Given the description of an element on the screen output the (x, y) to click on. 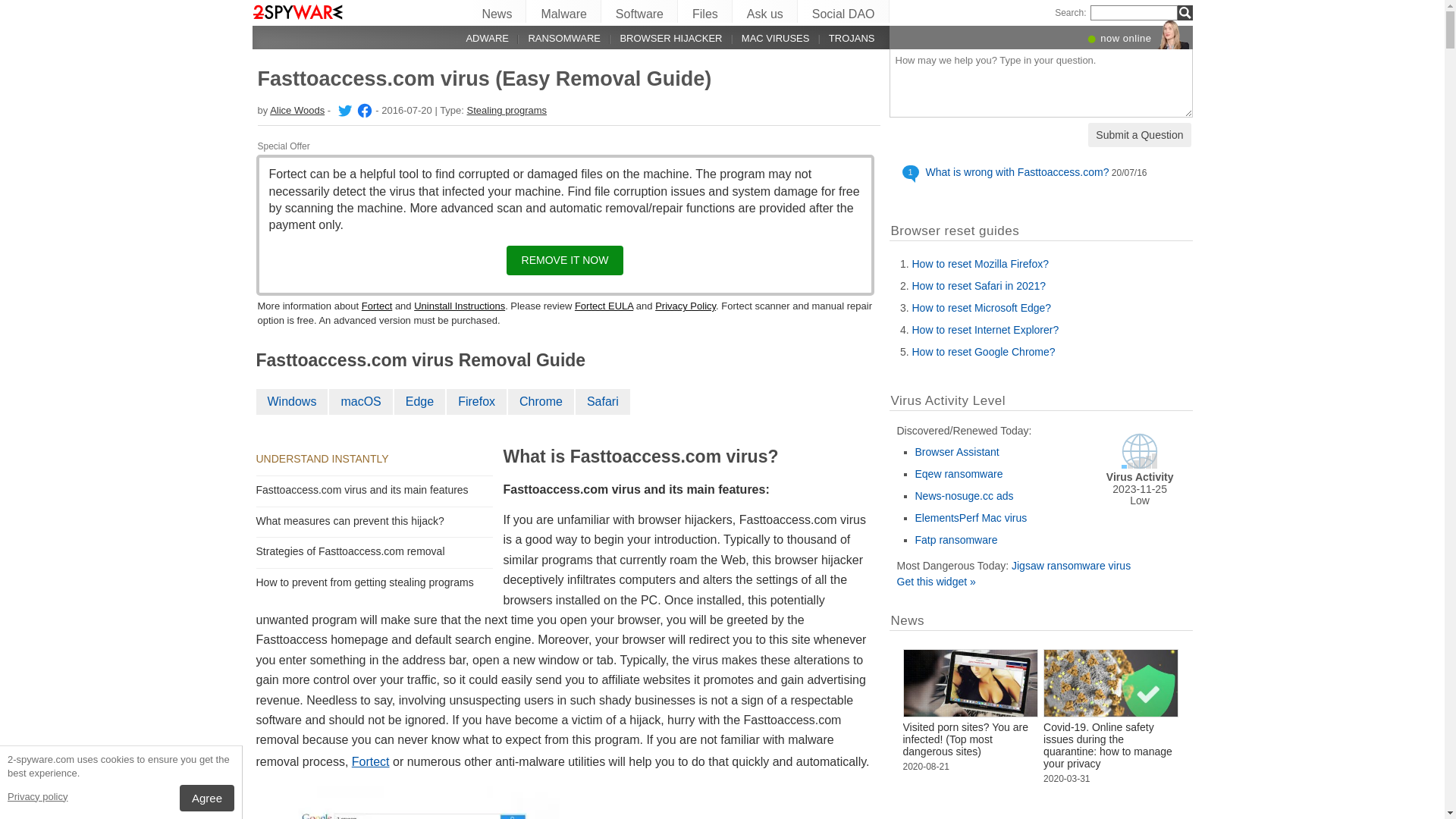
Agree Element type: text (206, 797)
MAC VIRUSES Element type: text (765, 37)
Uninstall Instructions Element type: text (459, 305)
macOS Element type: text (361, 402)
Software Element type: text (639, 11)
ElementsPerf Mac virus Element type: text (970, 517)
Edge Element type: text (420, 402)
News-nosuge.cc ads Element type: text (963, 495)
TROJANS Element type: text (841, 37)
Safari Element type: text (603, 402)
Jigsaw ransomware virus Element type: text (1070, 565)
Ask us Element type: text (765, 11)
REMOVE IT NOW Element type: text (565, 260)
Fortect EULA Element type: text (603, 305)
Virus Activity Element type: text (1139, 465)
News Element type: text (496, 11)
How to reset Microsoft Edge? Element type: text (981, 307)
2-spyware.com Element type: hover (296, 11)
Fortect Element type: text (376, 305)
Privacy Policy Element type: text (685, 305)
How to reset Internet Explorer? Element type: text (984, 329)
Alice Woods Element type: text (296, 110)
Fortect Element type: text (370, 761)
Alice Woods Element type: hover (343, 110)
RANSOMWARE Element type: text (554, 37)
Fatp ransomware Element type: text (955, 539)
What measures can prevent this hijack? Element type: text (352, 520)
Social DAO Element type: text (843, 11)
Files Element type: text (705, 11)
Stealing programs Element type: text (507, 110)
Eqew ransomware Element type: text (958, 473)
Strategies of Fasttoaccess.com removal Element type: text (353, 551)
Malware Element type: text (563, 11)
How to reset Mozilla Firefox? Element type: text (979, 263)
Privacy policy Element type: text (37, 795)
Submit a Question Element type: text (1139, 134)
Firefox Element type: text (477, 402)
How to reset Safari in 2021? Element type: text (978, 285)
How to reset Google Chrome? Element type: text (982, 351)
Fasttoaccess.com virus and its main features Element type: text (364, 489)
Alice Woods Element type: hover (363, 110)
Chrome Element type: text (541, 402)
Browser Assistant Element type: text (956, 451)
ADWARE Element type: text (478, 37)
BROWSER HIJACKER Element type: text (660, 37)
Windows Element type: text (292, 402)
What is wrong with Fasttoaccess.com? Element type: text (1016, 172)
How to prevent from getting stealing programs Element type: text (367, 582)
Search: Element type: text (1069, 12)
